Given the description of an element on the screen output the (x, y) to click on. 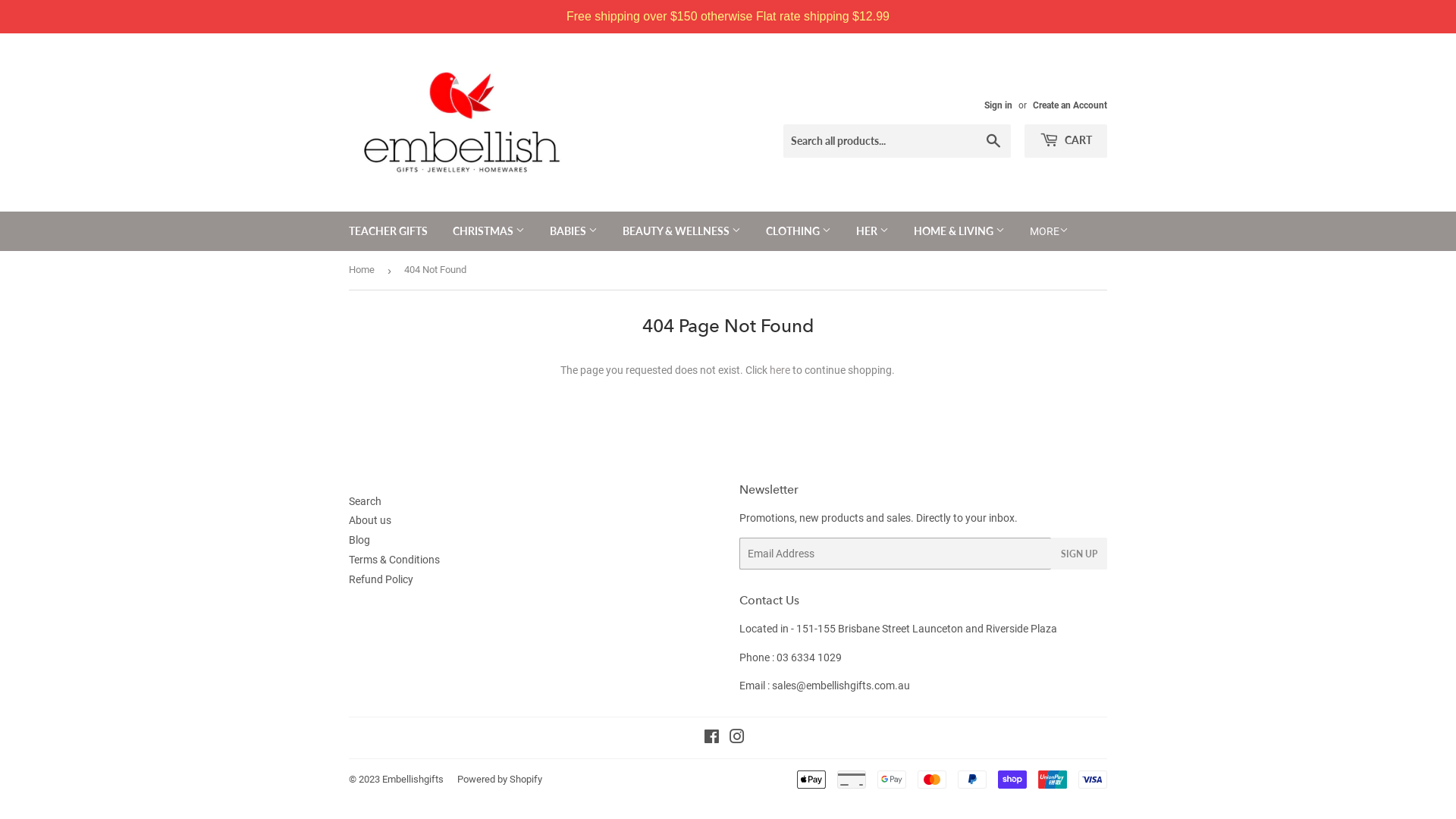
MORE Element type: text (1048, 231)
Refund Policy Element type: text (380, 579)
HOME & LIVING Element type: text (959, 231)
HER Element type: text (872, 231)
Search Element type: text (364, 500)
151-155 Brisbane Street Element type: text (853, 628)
BEAUTY & WELLNESS Element type: text (681, 231)
Search Element type: text (993, 141)
here Element type: text (779, 370)
Terms & Conditions Element type: text (393, 559)
Create an Account Element type: text (1069, 105)
BABIES Element type: text (573, 231)
Blog Element type: text (359, 539)
Home Element type: text (363, 270)
CART Element type: text (1065, 140)
Facebook Element type: text (711, 738)
CHRISTMAS Element type: text (488, 231)
SIGN UP Element type: text (1079, 553)
Sign in Element type: text (998, 105)
About us Element type: text (369, 520)
TEACHER GIFTS Element type: text (388, 231)
Powered by Shopify Element type: text (499, 778)
CLOTHING Element type: text (798, 231)
Embellishgifts Element type: text (412, 778)
Instagram Element type: text (736, 738)
